Given the description of an element on the screen output the (x, y) to click on. 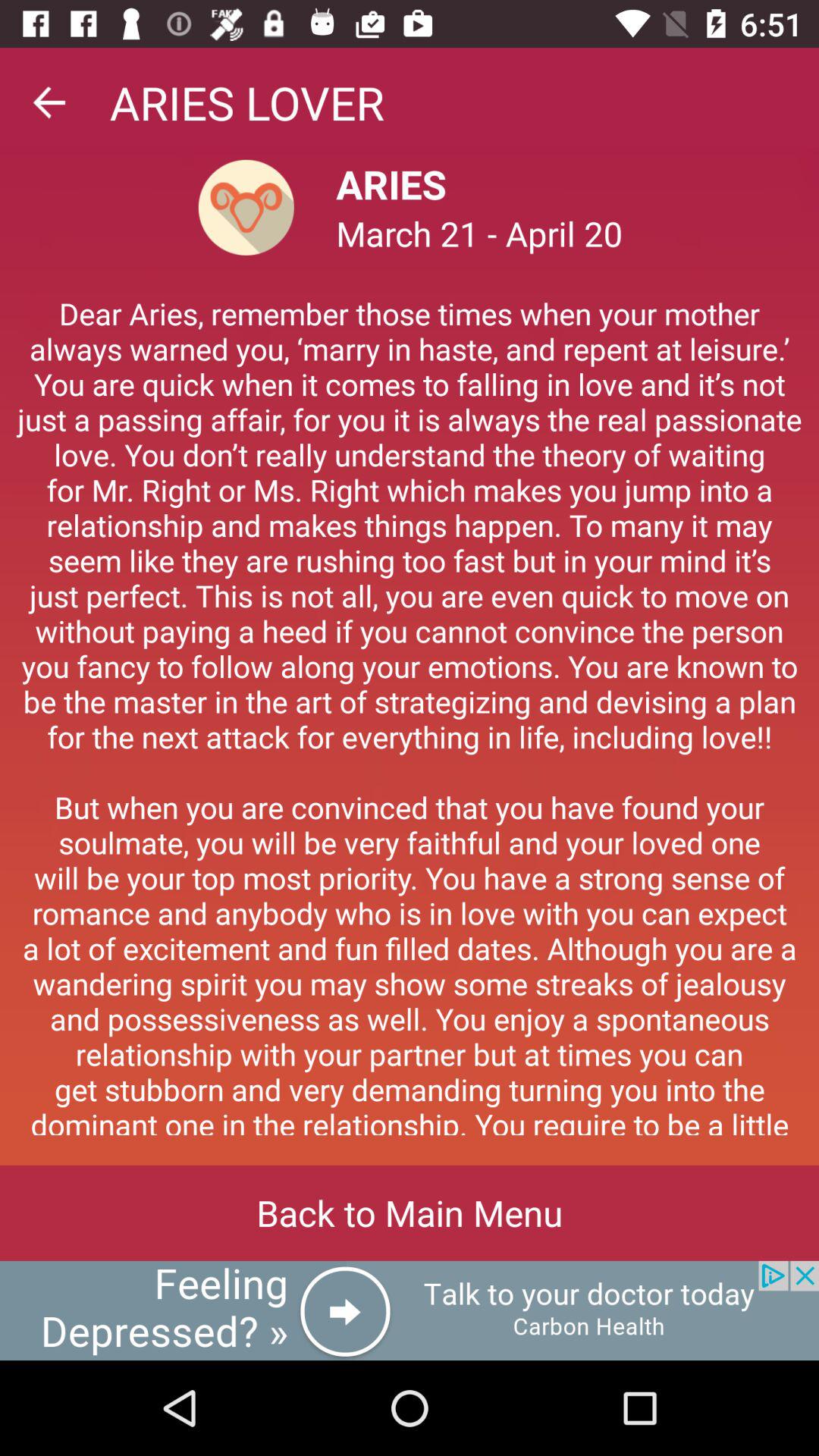
go to previous (49, 102)
